Given the description of an element on the screen output the (x, y) to click on. 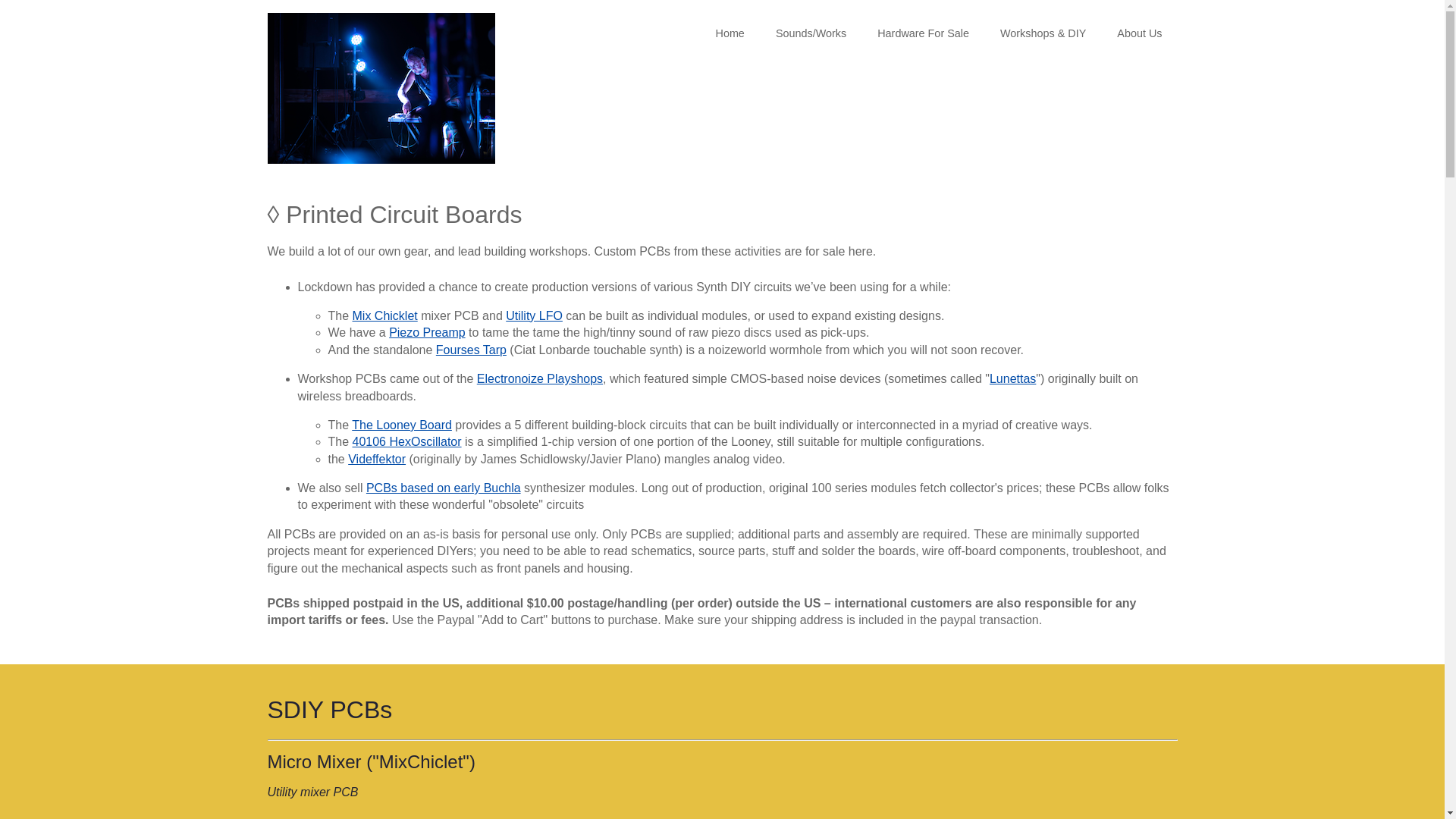
Videffektor (376, 459)
Home (729, 33)
Piezo Preamp (426, 332)
Lunettas (1012, 378)
Hardware For Sale (922, 33)
About Us (1139, 33)
PCBs based on early Buchla (443, 487)
Utility LFO (533, 315)
40106 HexOscillator (406, 440)
The Looney Board (401, 424)
Electronoize Playshops (539, 378)
Mix Chicklet (384, 315)
Fourses Tarp (470, 349)
